Given the description of an element on the screen output the (x, y) to click on. 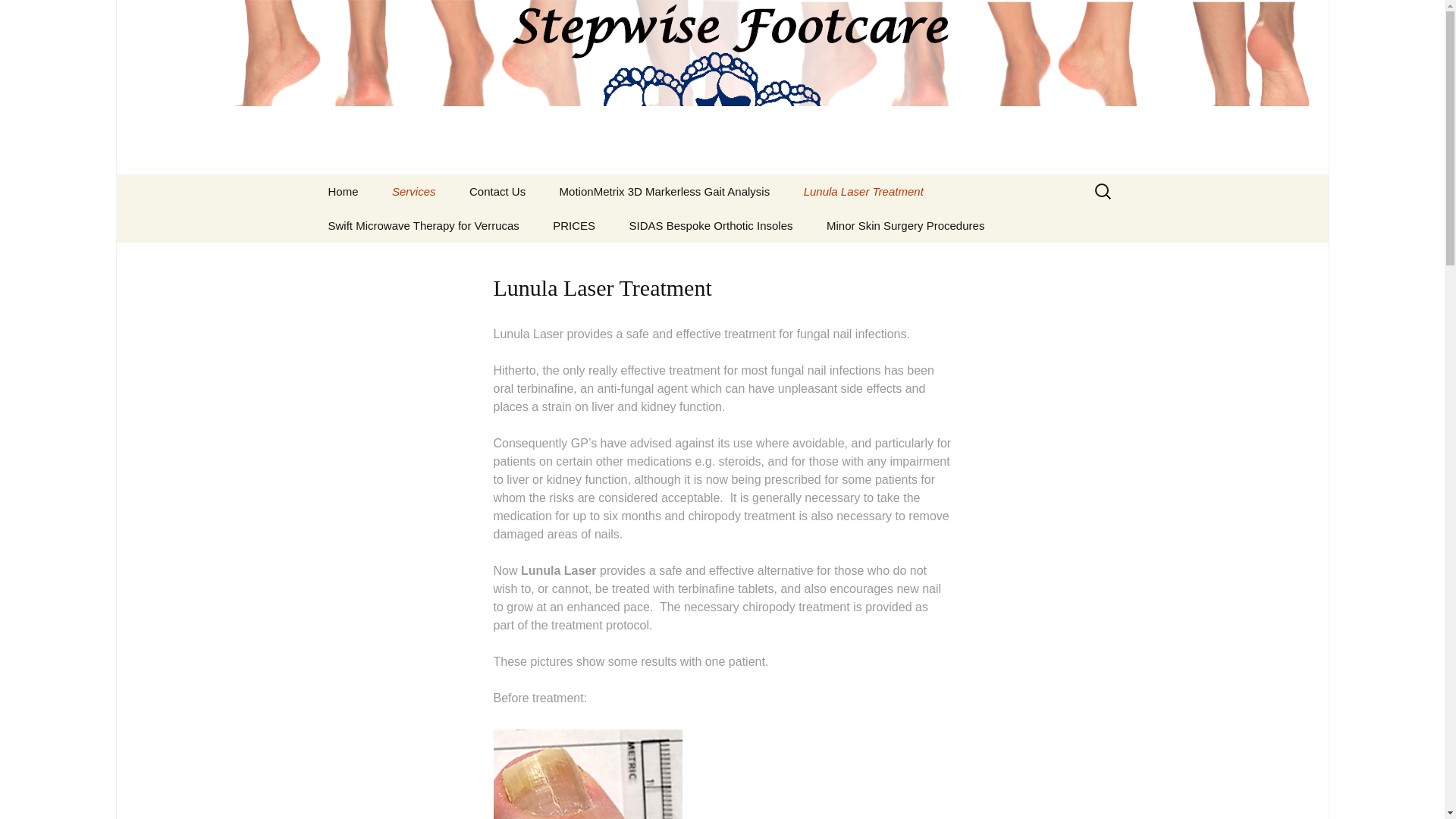
Lunula Laser Treatment (864, 191)
Biomechanical Assessments (452, 230)
Home (342, 191)
Minor Skin Surgery Procedures (904, 225)
Contact Us (497, 191)
PRICES (573, 225)
Swift Microwave Therapy for Verrucas (423, 225)
Services (414, 191)
